Given the description of an element on the screen output the (x, y) to click on. 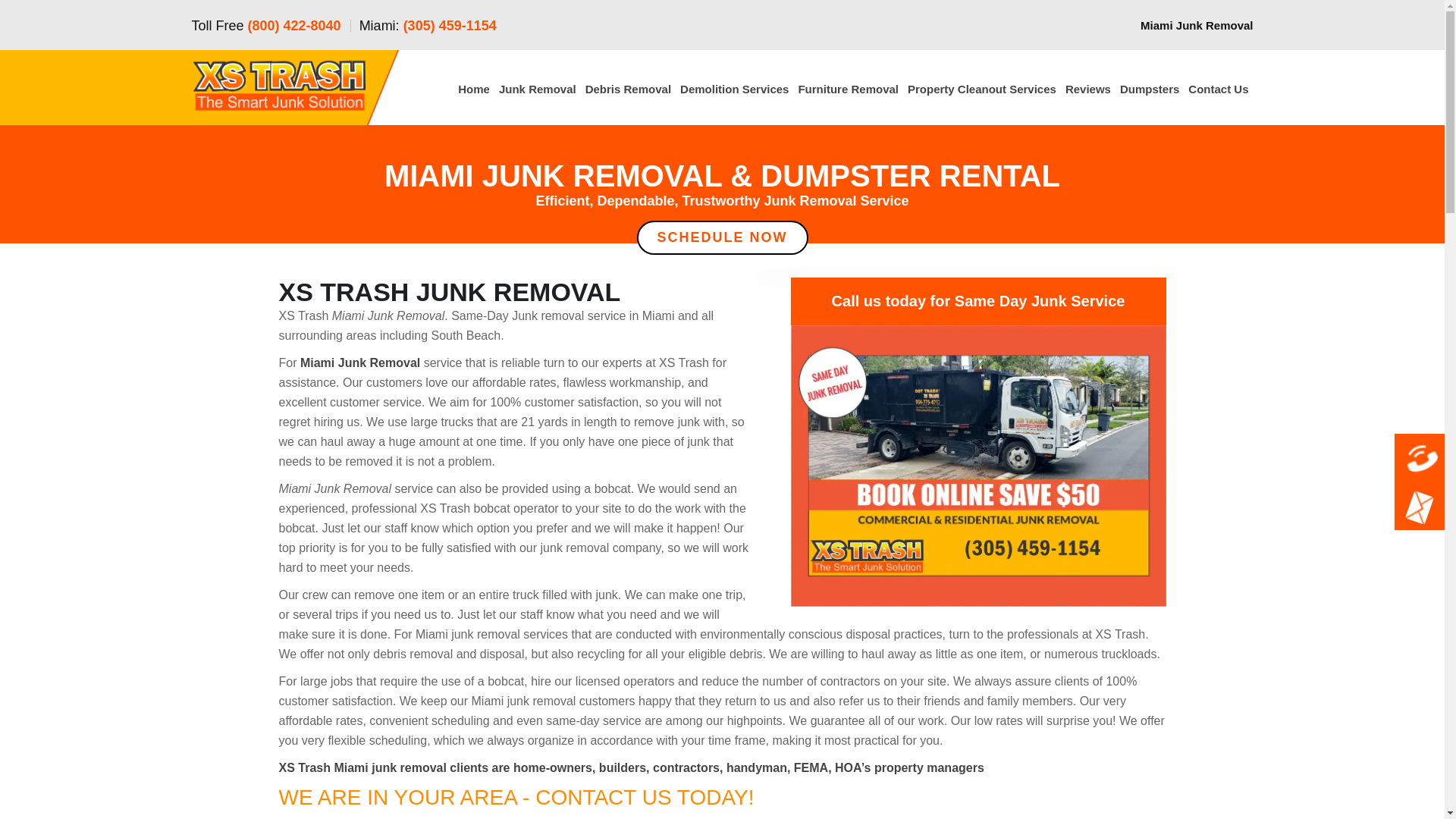
Contact Us (1217, 89)
Dumpsters (1149, 89)
Home (473, 89)
Property Cleanout Services (981, 89)
Debris Removal (627, 89)
Junk Removal (537, 89)
Furniture Removal (847, 89)
Reviews (1088, 89)
Demolition Services (734, 89)
SCHEDULE NOW (722, 237)
